Given the description of an element on the screen output the (x, y) to click on. 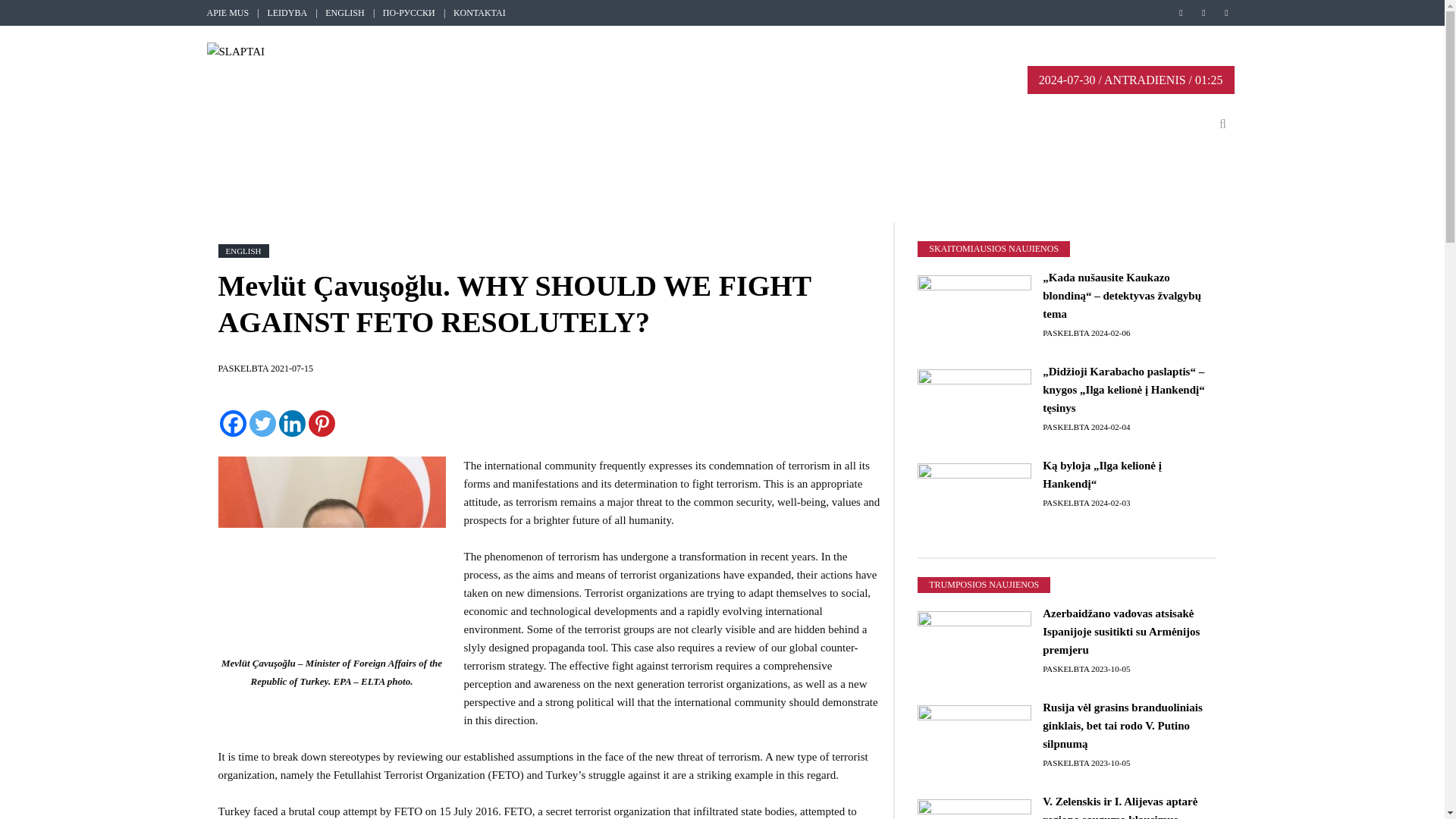
Twitter (1203, 13)
Linkedin (292, 423)
APIE MUS (227, 12)
KONTAKTAI (478, 12)
Twitter (261, 423)
Youtube (1226, 13)
ENGLISH (344, 12)
Pinterest (320, 423)
AKTUALIJOS (313, 124)
LEIDYBA (286, 12)
Facebook (1181, 13)
Facebook (232, 423)
